Given the description of an element on the screen output the (x, y) to click on. 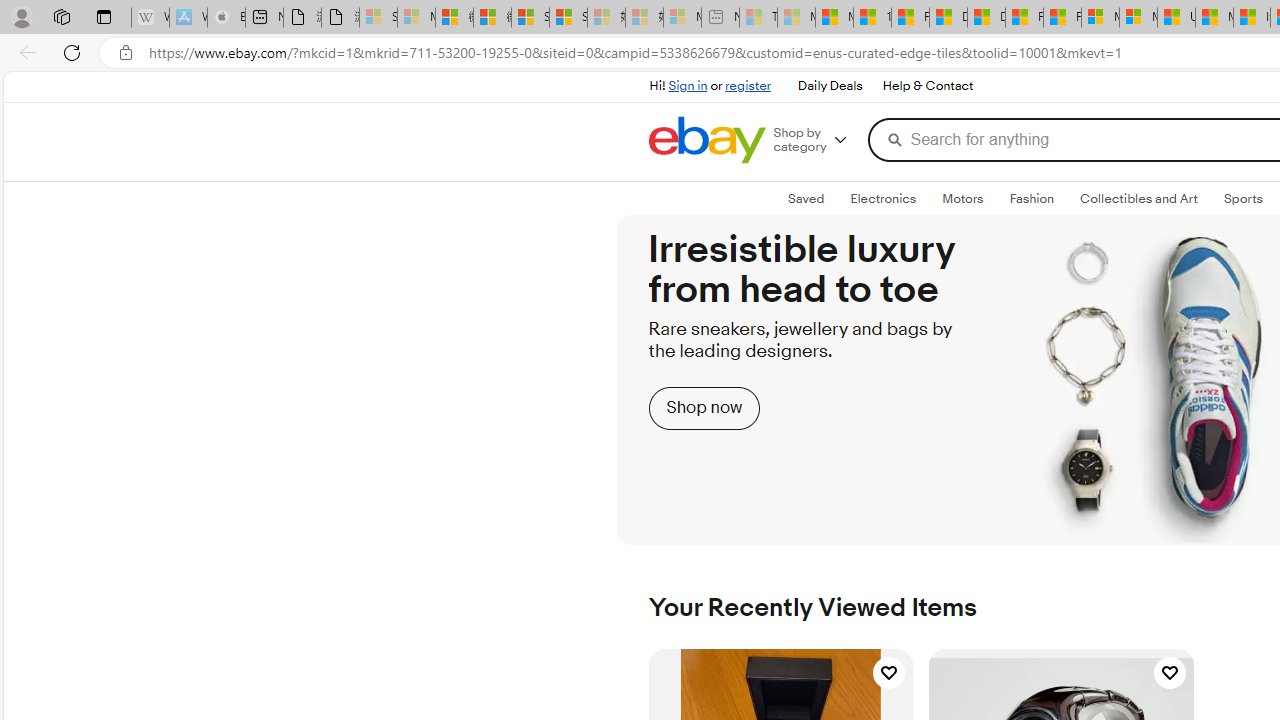
FashionExpand: Fashion (1031, 199)
US Heat Deaths Soared To Record High Last Year (1176, 17)
Buy iPad - Apple - Sleeping (225, 17)
Shop by category (816, 140)
Motors (963, 198)
Drinking tea every day is proven to delay biological aging (985, 17)
Sports (1243, 198)
